Given the description of an element on the screen output the (x, y) to click on. 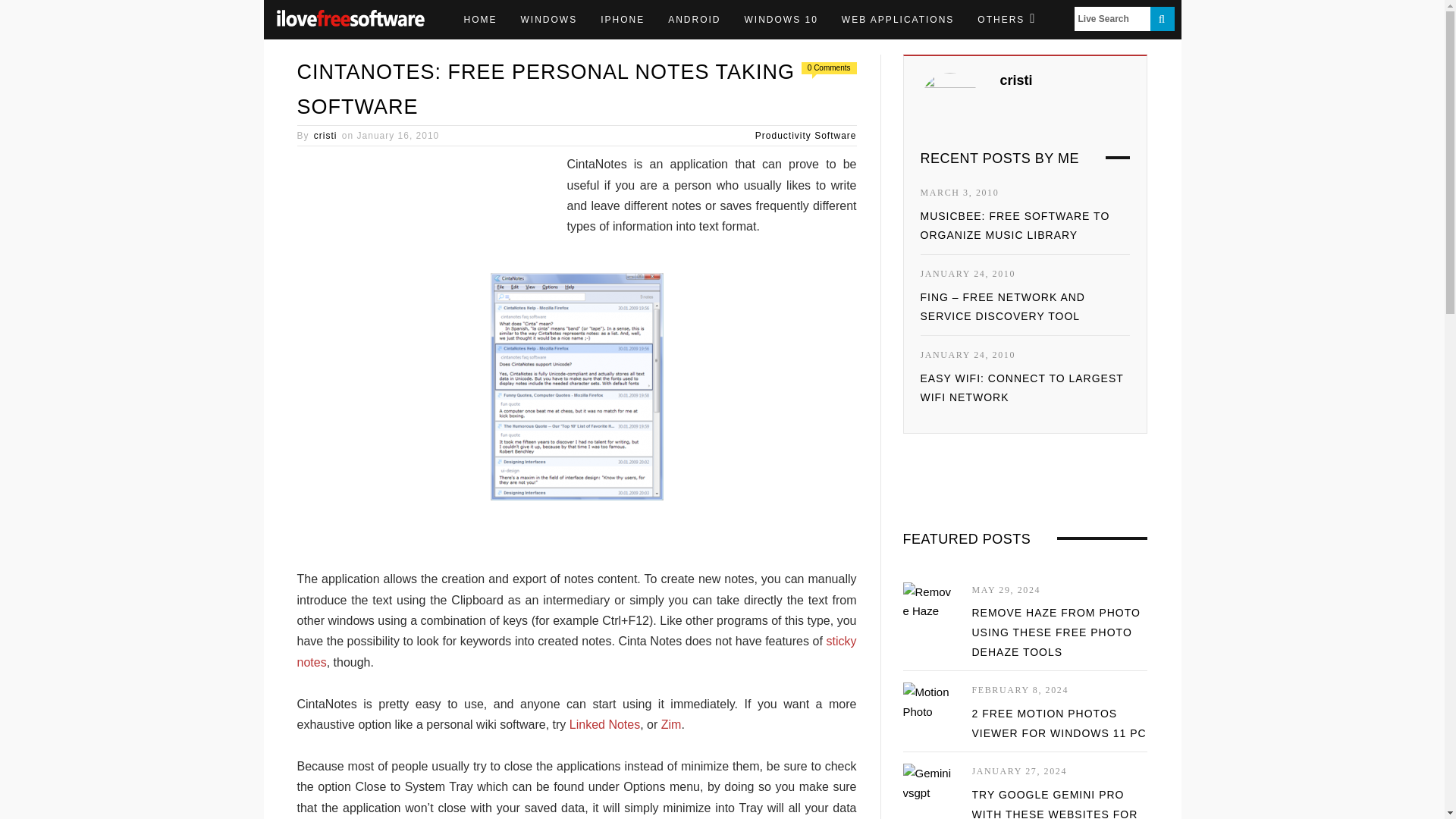
SEARCH (1161, 18)
0 Comments (829, 67)
2 Free Motion Photos Viewer for Windows 11 PC (928, 704)
Linked Notes (604, 724)
IPHONE (622, 19)
Download Zim - Free Desktop Wiki Software (671, 724)
Productivity Software (806, 135)
Posts by cristi (325, 135)
MusicBee: Free Software to Organize Music Library (1014, 225)
0 Comments (829, 67)
